Given the description of an element on the screen output the (x, y) to click on. 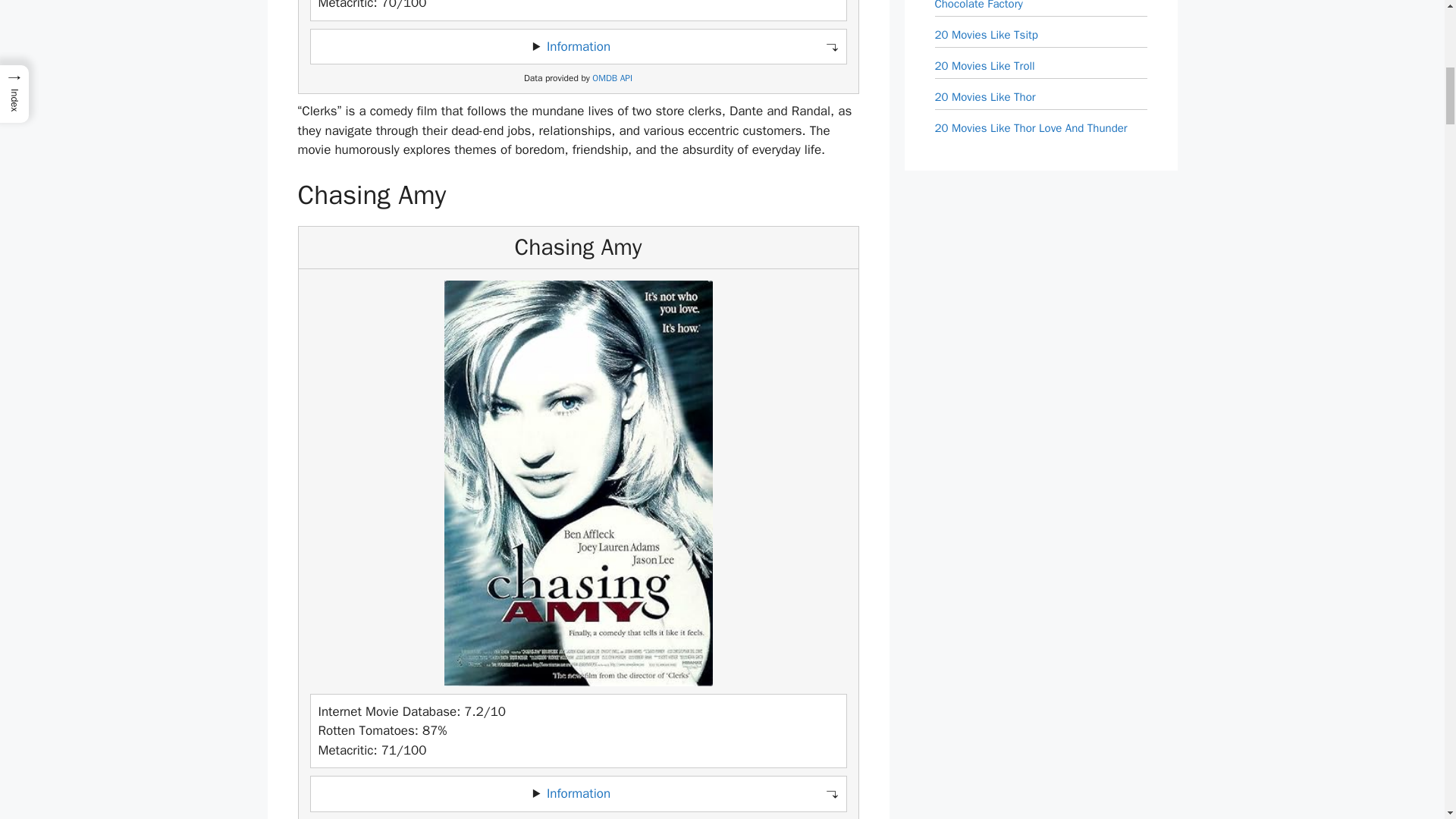
Toggle information (578, 793)
Information (578, 46)
Information (578, 793)
OMDB API (611, 78)
Open Movie Database API (611, 78)
Toggle information (578, 46)
